Given the description of an element on the screen output the (x, y) to click on. 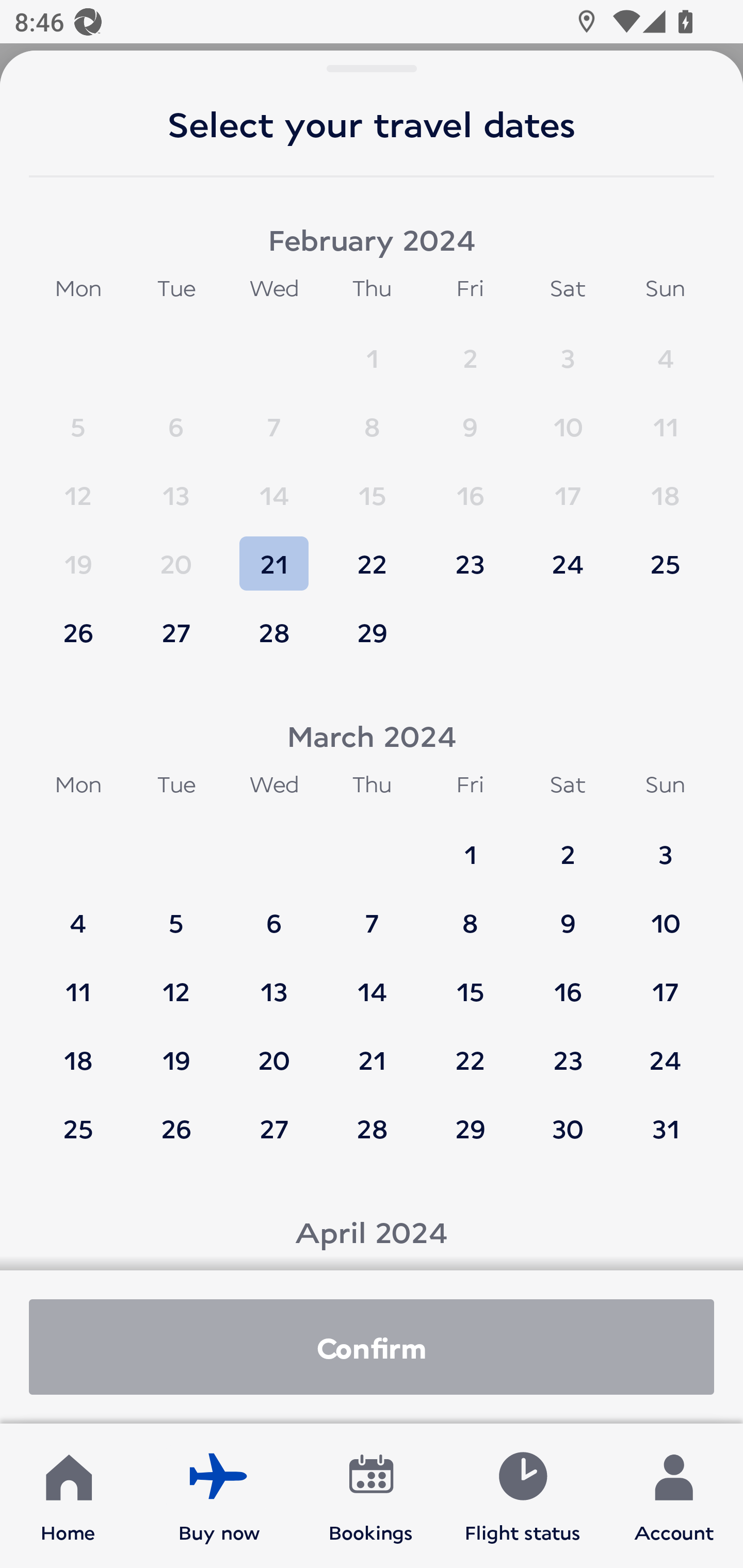
1 (372, 348)
2 (470, 348)
3 (567, 348)
4 (665, 348)
5 (77, 416)
6 (176, 416)
7 (274, 416)
8 (372, 416)
9 (470, 416)
10 (567, 416)
11 (665, 416)
12 (77, 485)
13 (176, 485)
14 (274, 485)
15 (372, 485)
16 (470, 485)
17 (567, 485)
18 (665, 485)
19 (77, 554)
20 (176, 554)
21 (274, 554)
22 (372, 554)
23 (470, 554)
24 (567, 554)
25 (665, 554)
26 (77, 632)
27 (176, 632)
28 (274, 632)
29 (372, 632)
1 (470, 844)
2 (567, 844)
3 (665, 844)
4 (77, 913)
5 (176, 913)
6 (274, 913)
7 (372, 913)
8 (470, 913)
9 (567, 913)
10 (665, 913)
11 (77, 982)
12 (176, 982)
13 (274, 982)
14 (372, 982)
15 (470, 982)
16 (567, 982)
17 (665, 982)
18 (77, 1050)
19 (176, 1050)
20 (274, 1050)
21 (372, 1050)
22 (470, 1050)
23 (567, 1050)
24 (665, 1050)
25 (77, 1128)
26 (176, 1128)
27 (274, 1128)
28 (372, 1128)
29 (470, 1128)
30 (567, 1128)
31 (665, 1128)
Confirm (371, 1346)
Home (68, 1495)
Bookings (370, 1495)
Flight status (522, 1495)
Account (674, 1495)
